Given the description of an element on the screen output the (x, y) to click on. 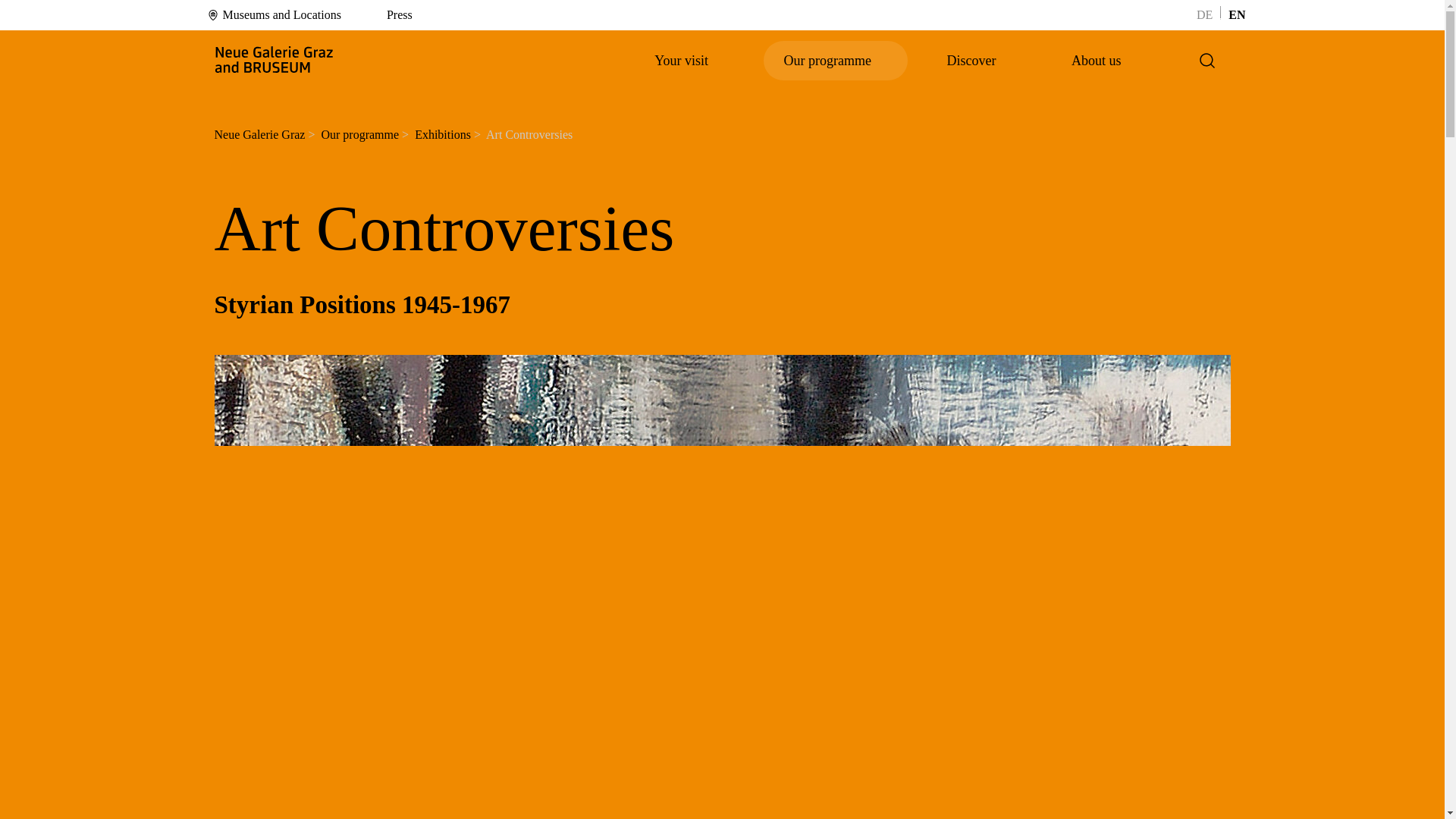
EN (1236, 14)
Our programme (835, 60)
Press (391, 15)
Your visit (688, 60)
Discover (978, 60)
Museums and Locations (272, 15)
DE (1204, 14)
